Given the description of an element on the screen output the (x, y) to click on. 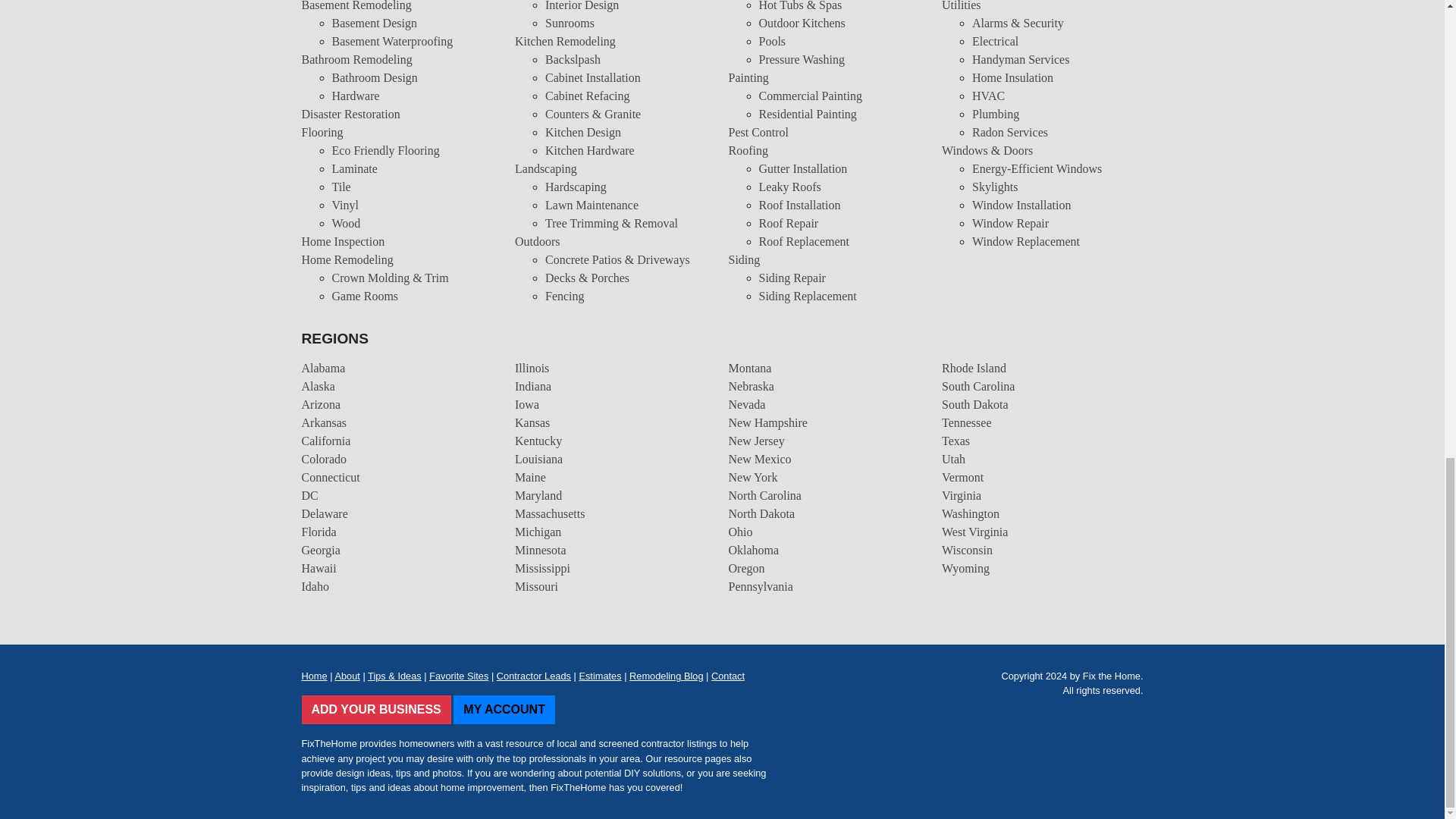
Basement Design (373, 22)
Bathroom Remodeling (356, 59)
Basement Remodeling (356, 5)
Basement Waterproofing (391, 41)
